Given the description of an element on the screen output the (x, y) to click on. 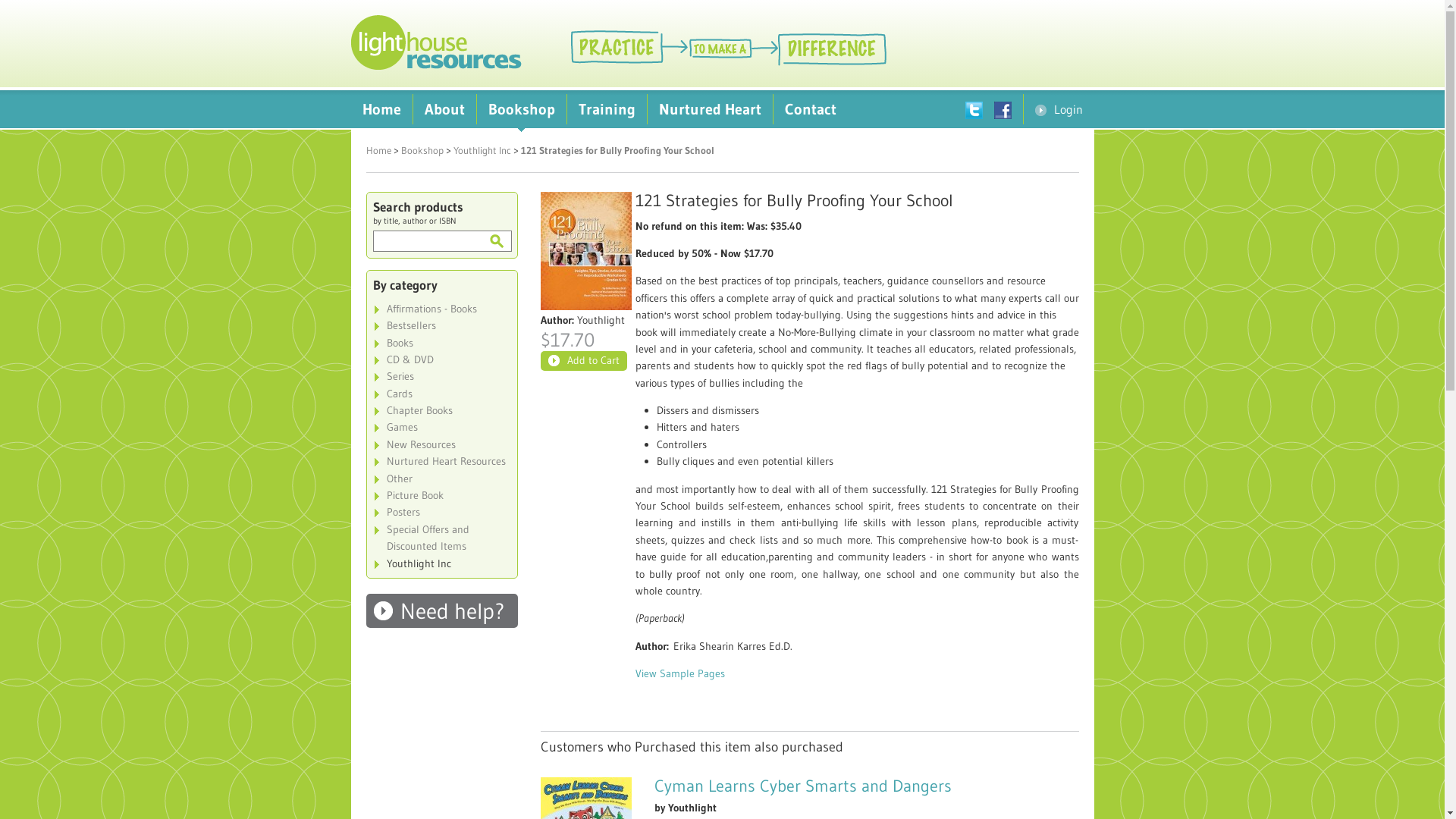
Special Offers and Discounted Items Element type: text (442, 537)
Other Element type: text (442, 478)
Need help? Element type: text (441, 610)
Books Element type: text (442, 342)
Go Element type: text (495, 240)
Contact Element type: text (810, 109)
Training Element type: text (606, 109)
Bookshop Element type: text (520, 109)
Youthlight Inc Element type: text (442, 563)
Home Element type: text (380, 109)
Home Element type: text (377, 150)
About Element type: text (443, 109)
New Resources Element type: text (442, 444)
Posters Element type: text (442, 511)
Login Element type: text (1058, 109)
Series Element type: text (442, 375)
Affirmations - Books Element type: text (442, 308)
View Sample Pages Element type: text (679, 673)
CD & DVD Element type: text (442, 359)
Bestsellers Element type: text (442, 324)
Add to Cart Element type: text (582, 360)
Games Element type: text (442, 426)
Nurtured Heart Element type: text (709, 109)
Picture Book Element type: text (442, 494)
Visit us on Twitter Element type: hover (978, 109)
Cyman Learns Cyber Smarts and Dangers Element type: text (801, 785)
Nurtured Heart Resources Element type: text (442, 460)
Youthlight Inc Element type: text (482, 150)
Visit us on Facebook Element type: hover (1007, 109)
Cards Element type: text (442, 393)
Chapter Books Element type: text (442, 409)
Bookshop Element type: text (421, 150)
